Given the description of an element on the screen output the (x, y) to click on. 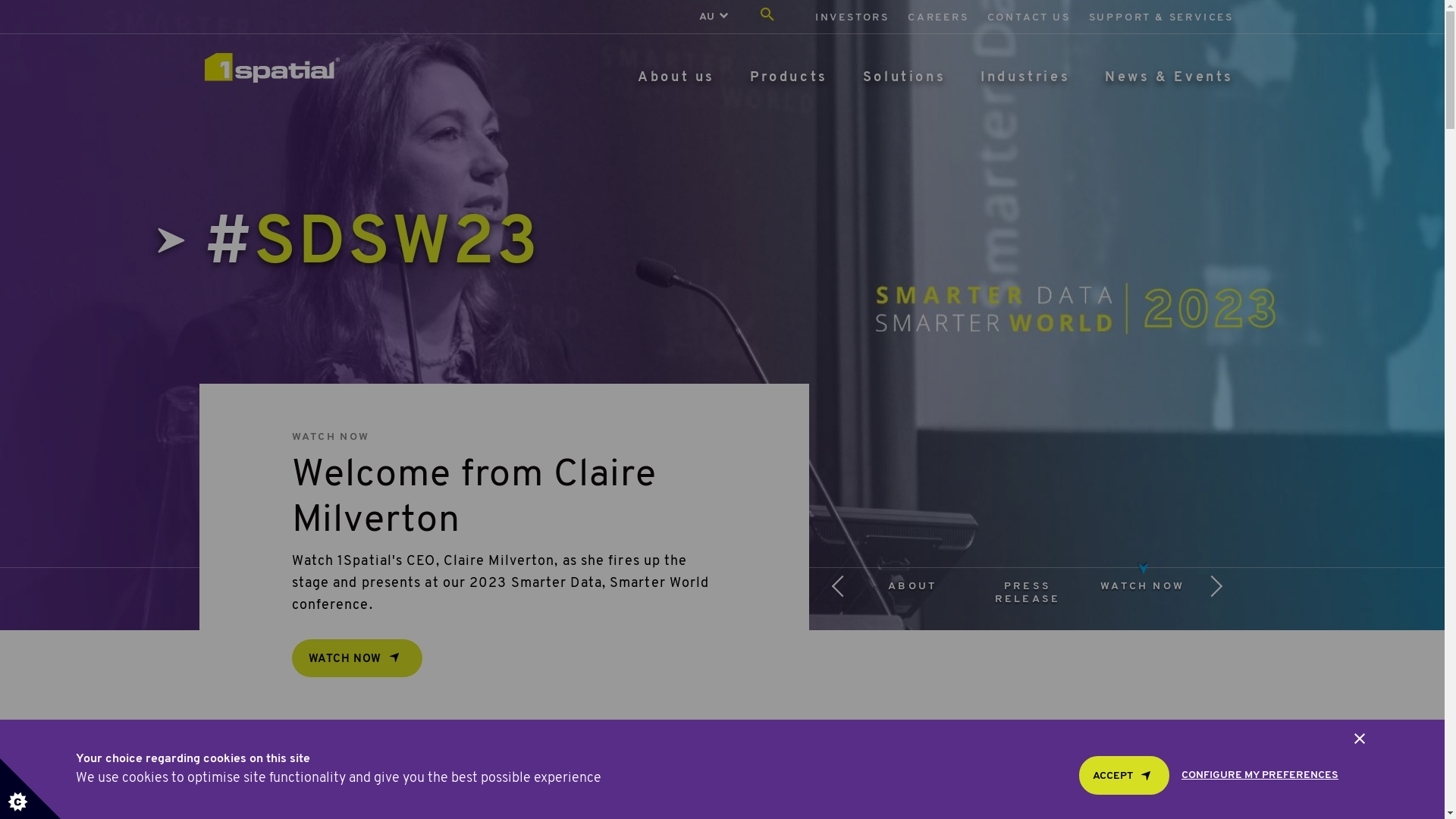
CONFIGURE MY PREFERENCES Element type: text (1259, 775)
ACCEPT Element type: text (1124, 775)
WATCH NOW Element type: text (1142, 586)
PRESS RELEASE Element type: text (1027, 592)
AU Element type: text (705, 17)
News & Events Element type: text (1168, 77)
CAREERS Element type: text (938, 17)
ABOUT Element type: text (912, 586)
About us Element type: text (676, 77)
Solutions Element type: text (903, 77)
Open search form Element type: text (767, 16)
SUPPORT & SERVICES Element type: text (1160, 17)
next Element type: text (1222, 592)
prev Element type: text (831, 592)
CONTACT US Element type: text (1028, 17)
Industries Element type: text (1025, 77)
INVESTORS Element type: text (852, 17)
READ NOW Element type: text (351, 693)
Products Element type: text (788, 77)
